Given the description of an element on the screen output the (x, y) to click on. 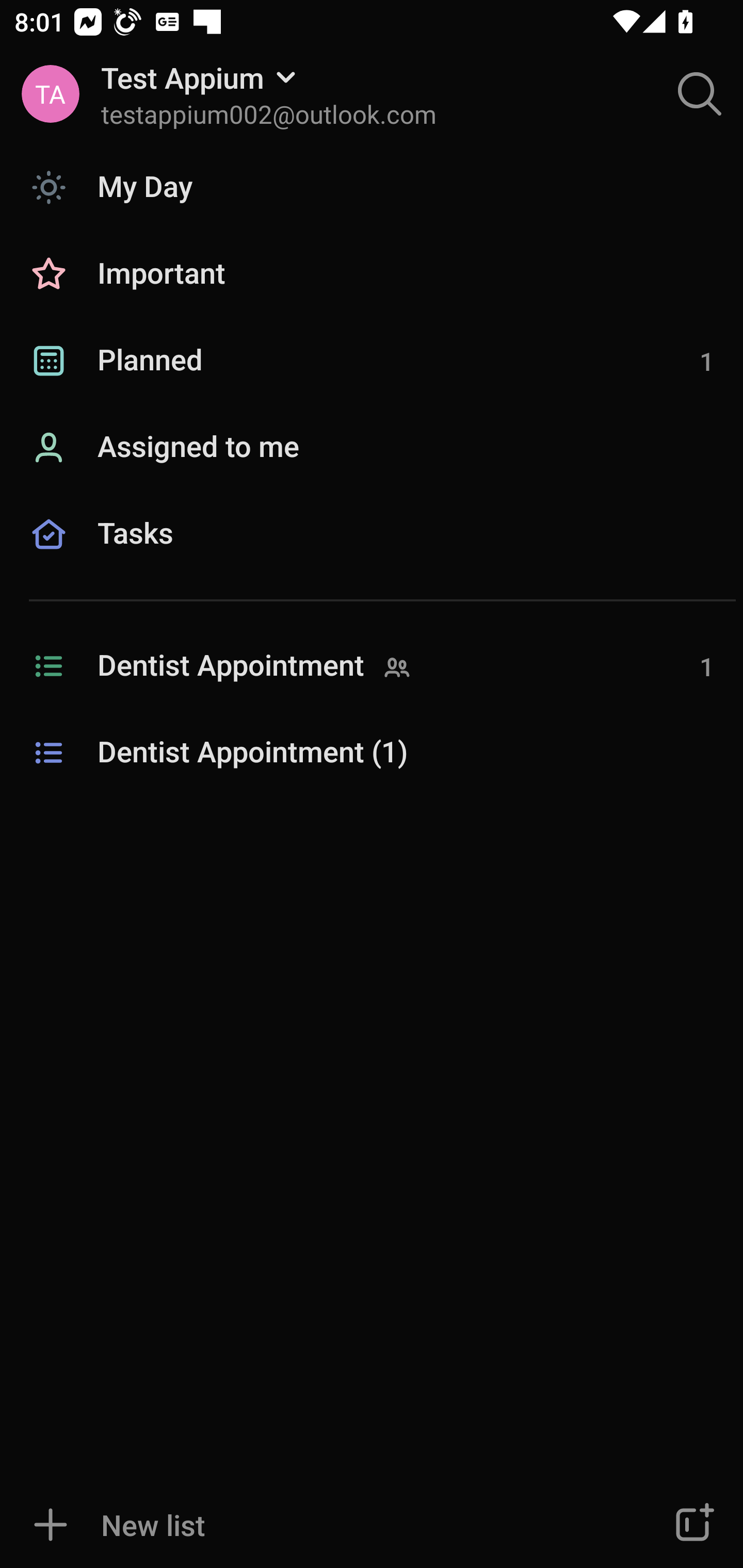
Enter search (699, 93)
My Day, 0 tasks My Day (371, 187)
Important, 0 tasks Important (371, 274)
Planned, 1 tasks Planned 1 (371, 361)
Assigned to me, 0 tasks Assigned to me (371, 447)
Tasks (371, 556)
Dentist Appointment (1) (371, 753)
New list (312, 1524)
Create group (692, 1524)
